Given the description of an element on the screen output the (x, y) to click on. 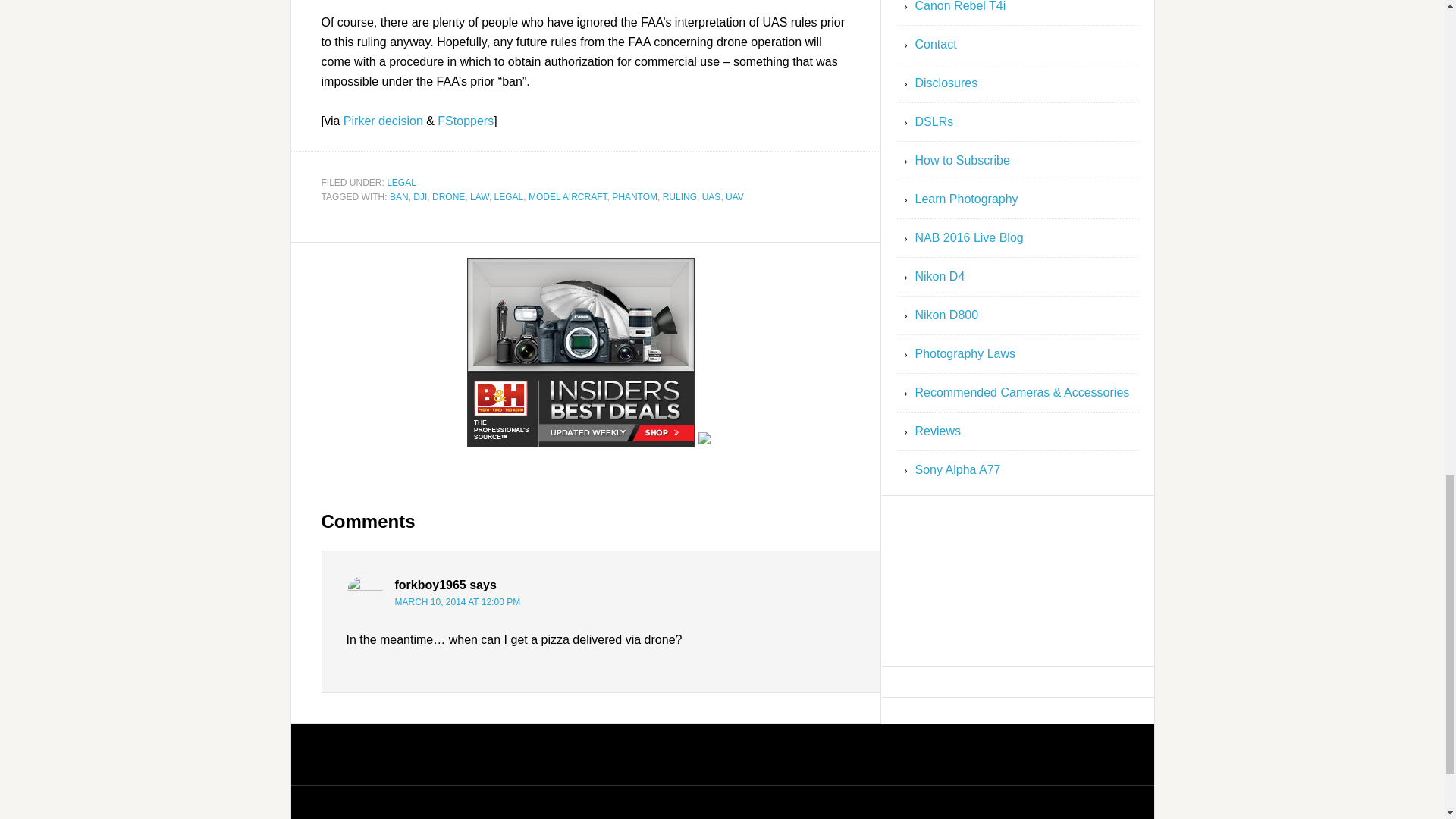
MARCH 10, 2014 AT 12:00 PM (456, 602)
LAW (479, 196)
UAV (734, 196)
PHANTOM (634, 196)
LEGAL (509, 196)
BAN (399, 196)
LEGAL (401, 181)
FStoppers (465, 120)
DJI (419, 196)
Pirker decision (383, 120)
